Given the description of an element on the screen output the (x, y) to click on. 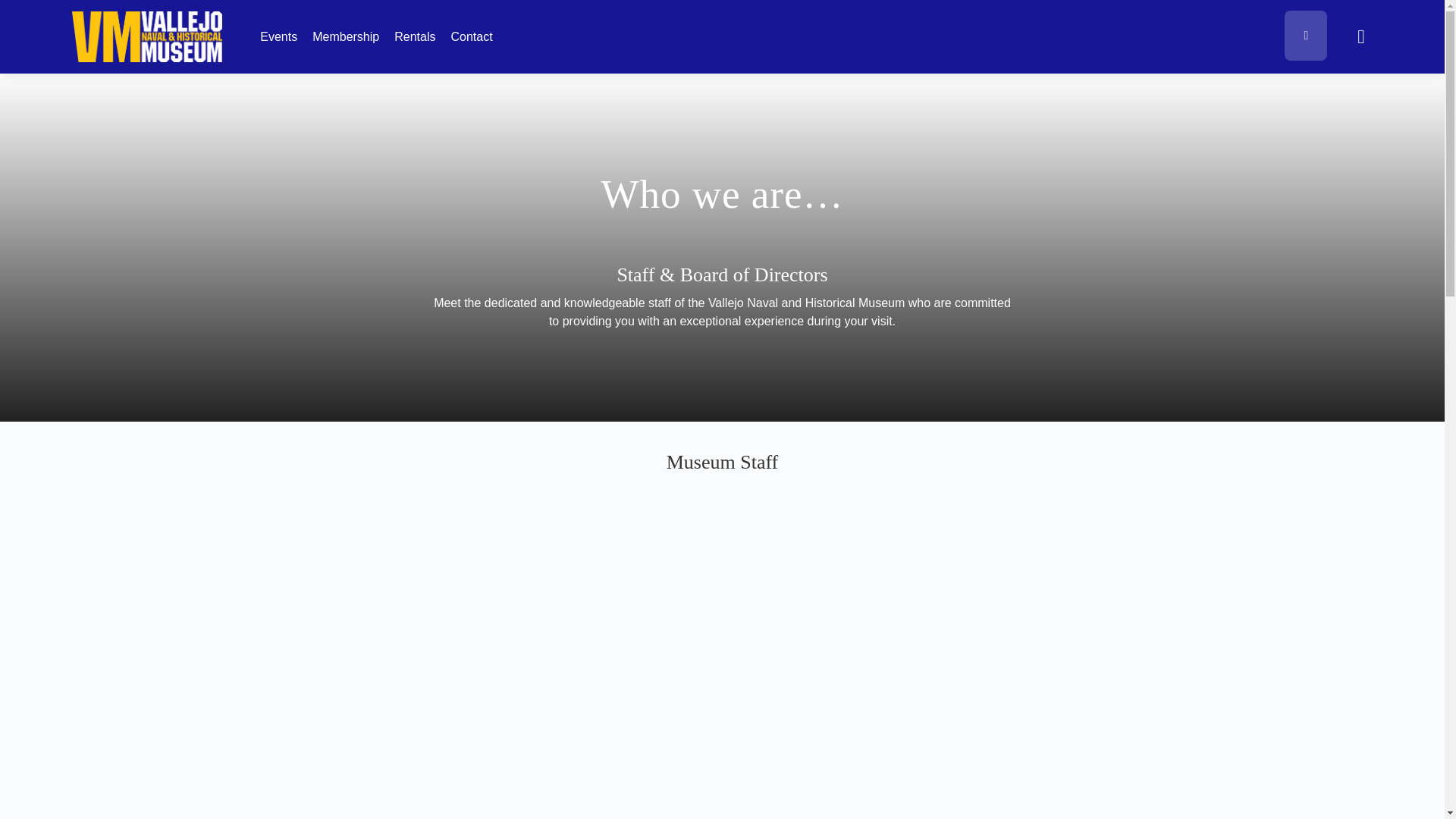
Membership (345, 36)
Events (278, 36)
Rentals (414, 36)
Vallejo Musem Logo Fin Hz 3 (146, 36)
Contact (470, 36)
